Given the description of an element on the screen output the (x, y) to click on. 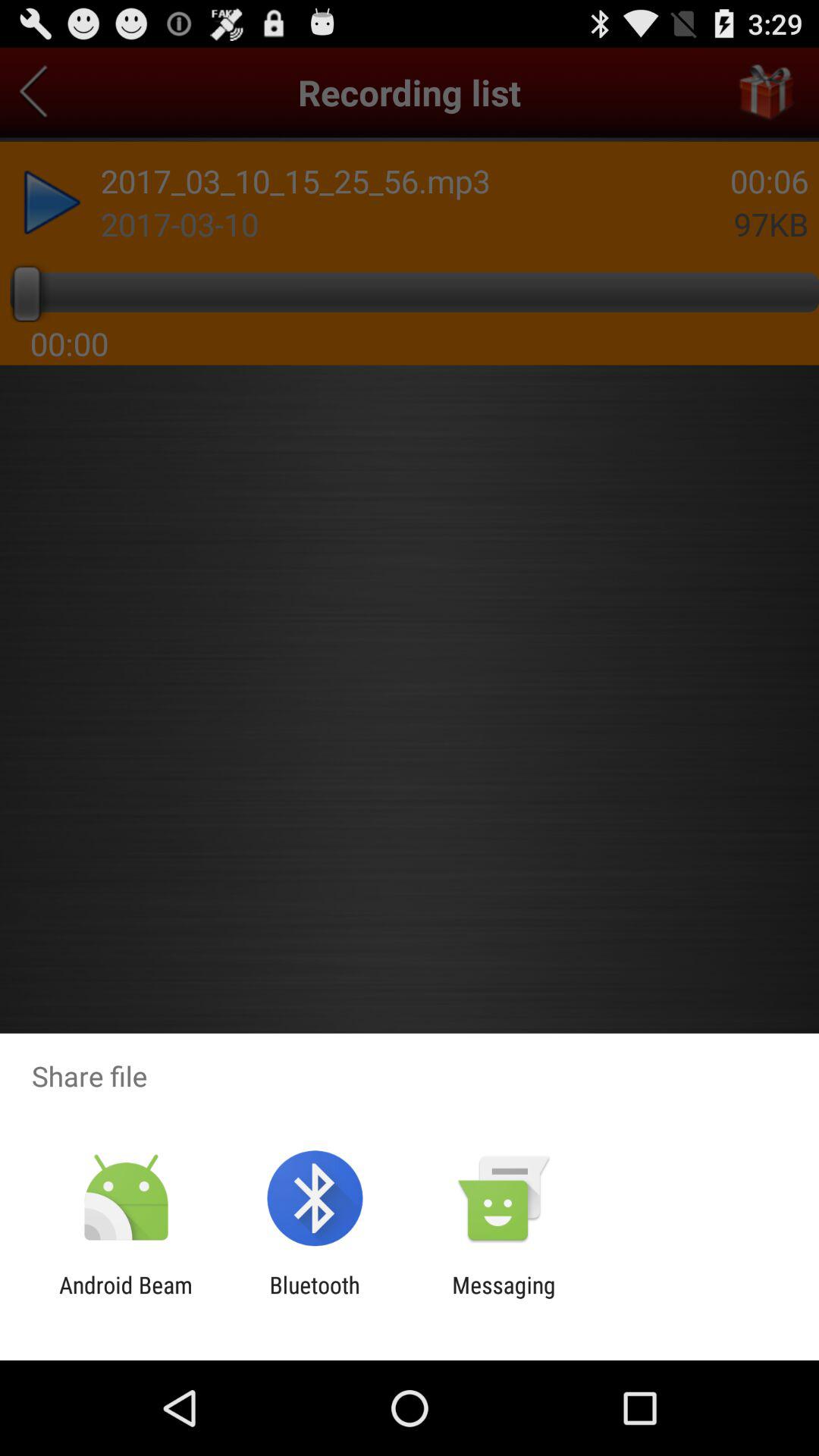
launch item to the right of android beam (314, 1298)
